Given the description of an element on the screen output the (x, y) to click on. 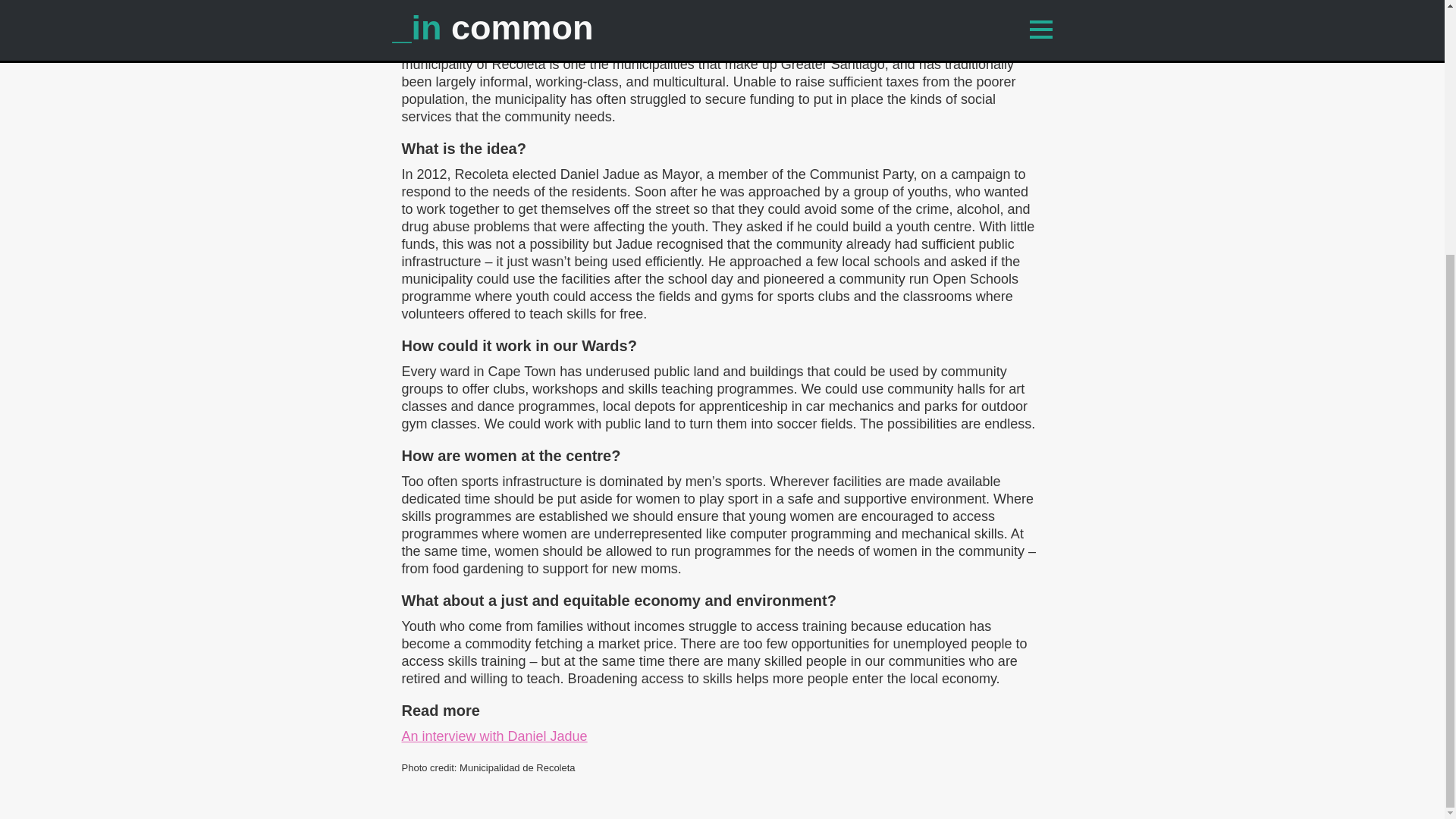
Go to top (1037, 492)
Go to top (1037, 492)
An interview with Daniel Jadue (494, 735)
Go to top (1034, 491)
